Given the description of an element on the screen output the (x, y) to click on. 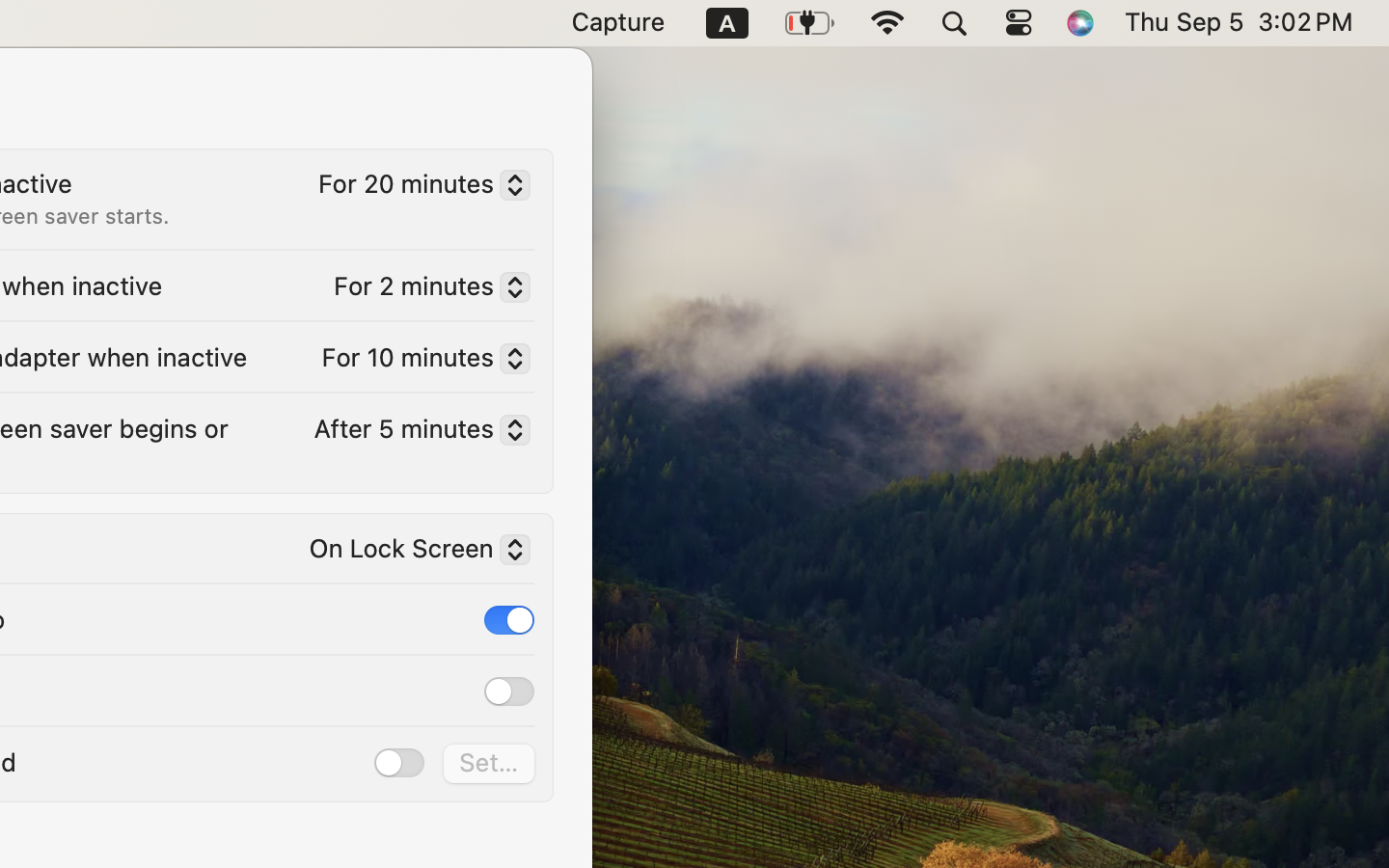
For 20 minutes Element type: AXPopUpButton (416, 187)
After 5 minutes Element type: AXPopUpButton (413, 432)
On Lock Screen Element type: AXPopUpButton (411, 552)
For 2 minutes Element type: AXPopUpButton (424, 290)
